Given the description of an element on the screen output the (x, y) to click on. 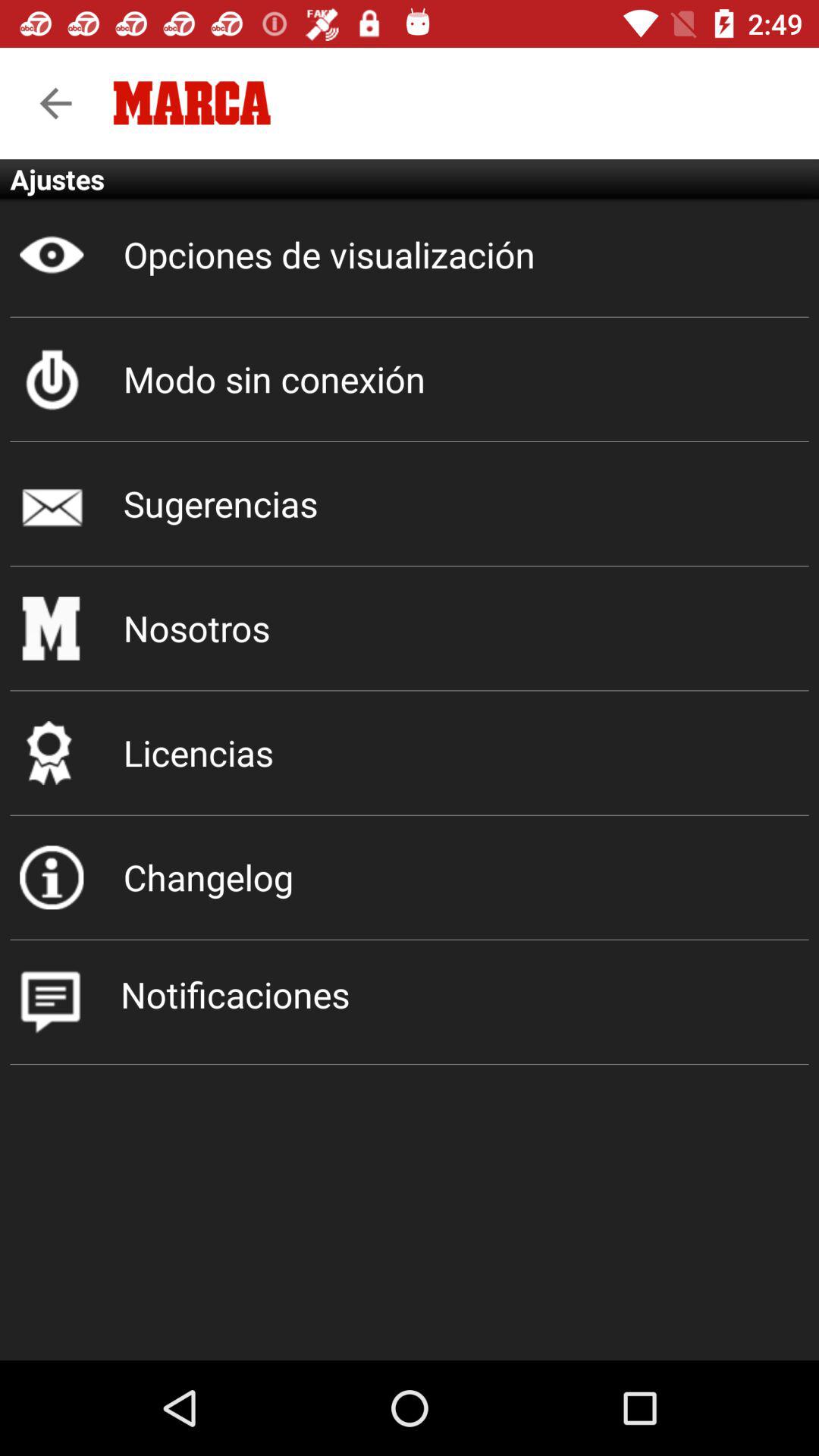
scroll to the sugerencias (409, 503)
